Given the description of an element on the screen output the (x, y) to click on. 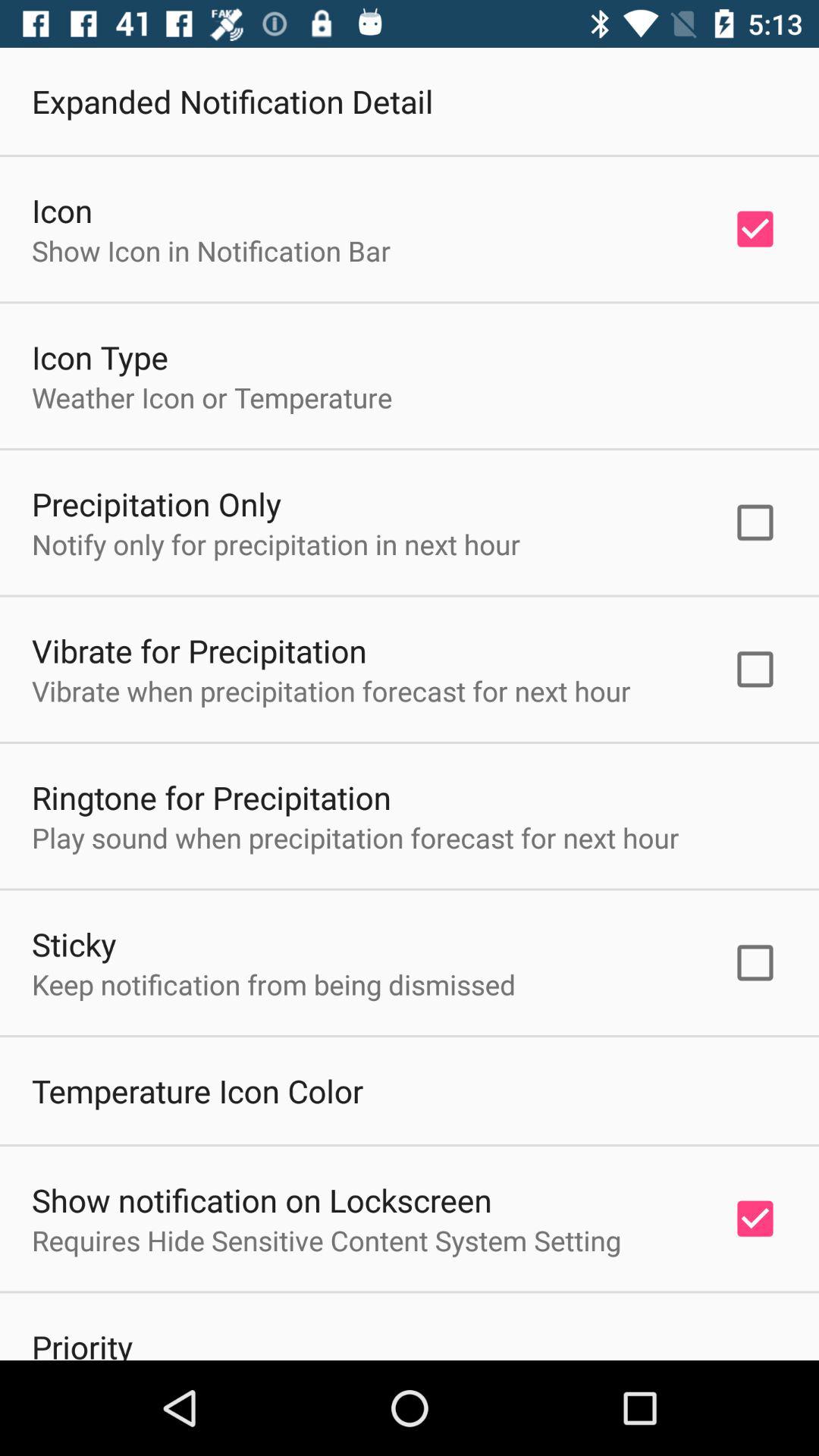
tap icon below show icon in item (99, 356)
